Given the description of an element on the screen output the (x, y) to click on. 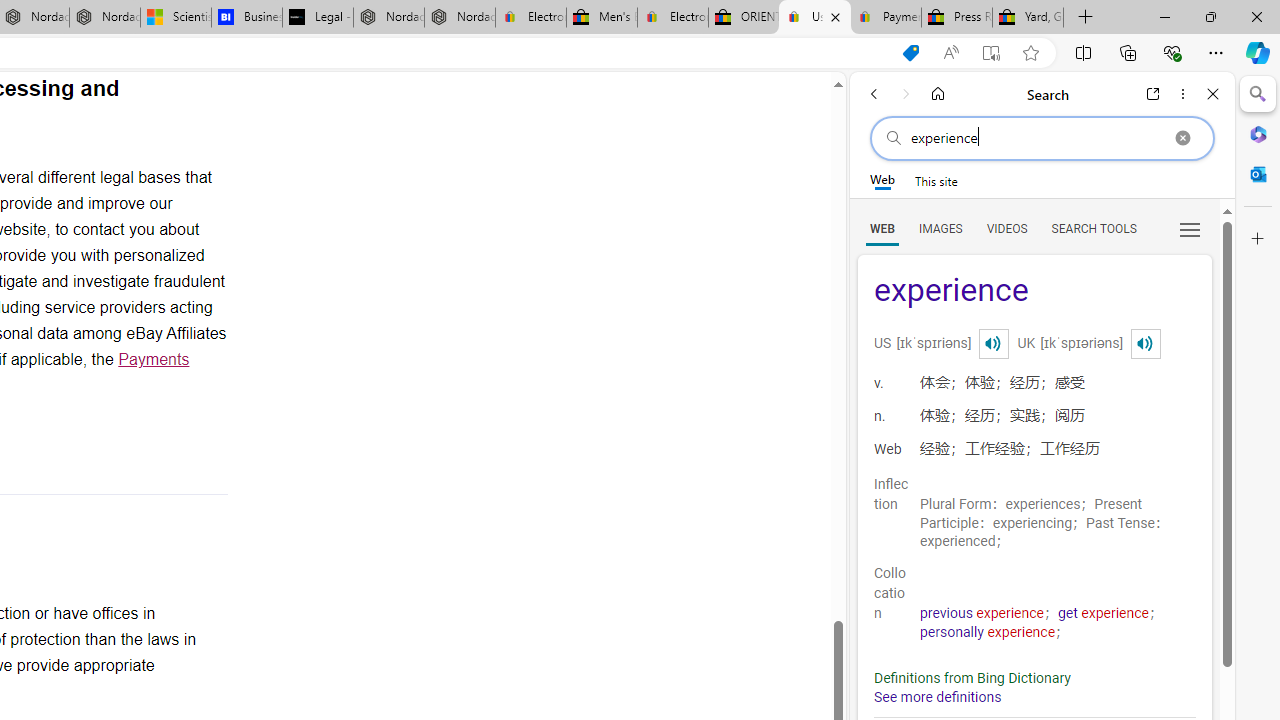
Class: dict_pnIcon rms_img (1145, 343)
